Given the description of an element on the screen output the (x, y) to click on. 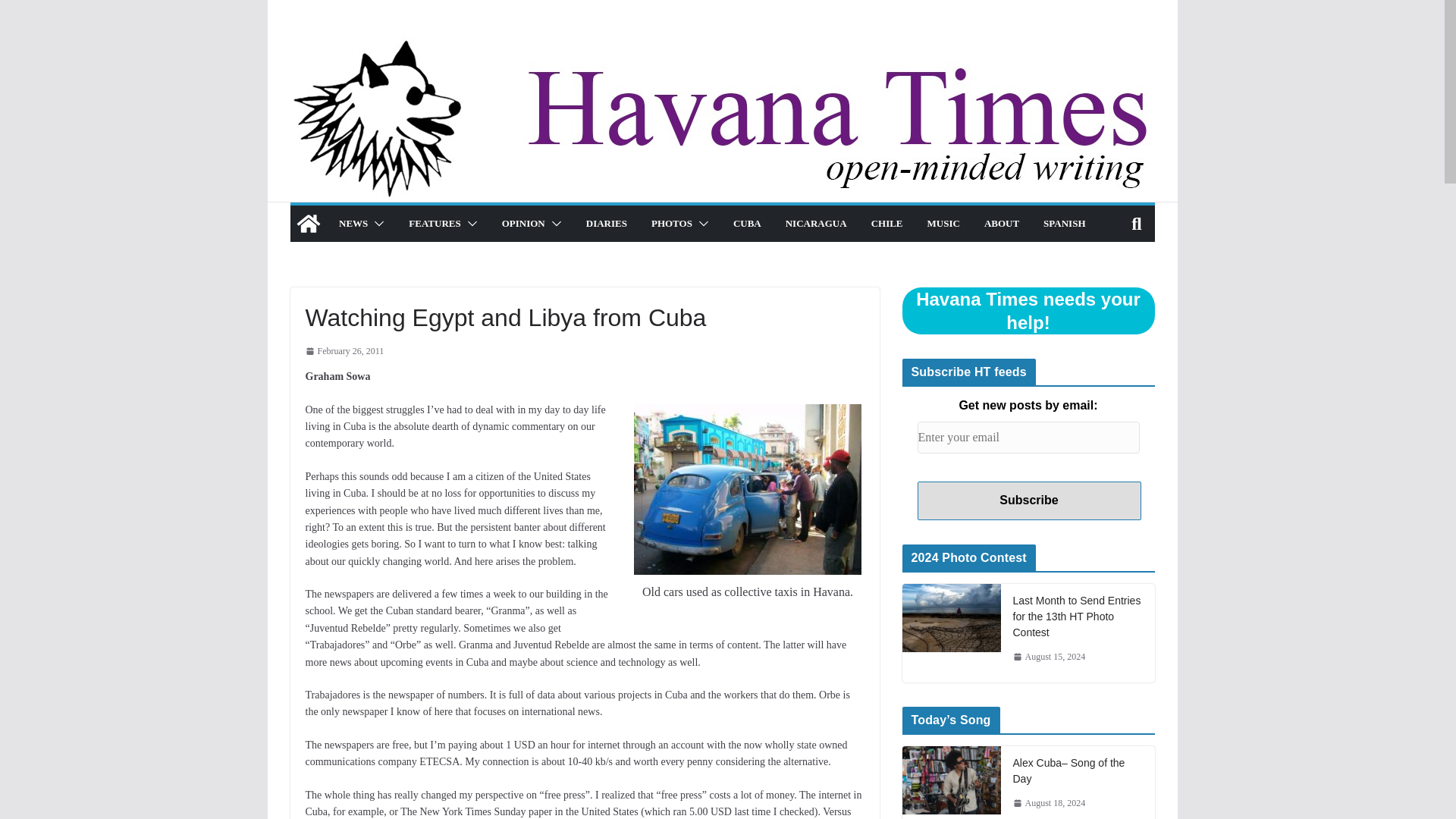
Havana Times needs your help! (1027, 310)
Last Month to Send Entries for the 13th HT Photo Contest (951, 632)
CUBA (746, 223)
Old cars used as collective taxis in Havana. (747, 489)
OPINION (522, 223)
FEATURES (434, 223)
Last Month to Send Entries for the 13th HT Photo Contest (1077, 616)
Havana Times (307, 223)
Subscribe (1029, 500)
DIARIES (605, 223)
